Given the description of an element on the screen output the (x, y) to click on. 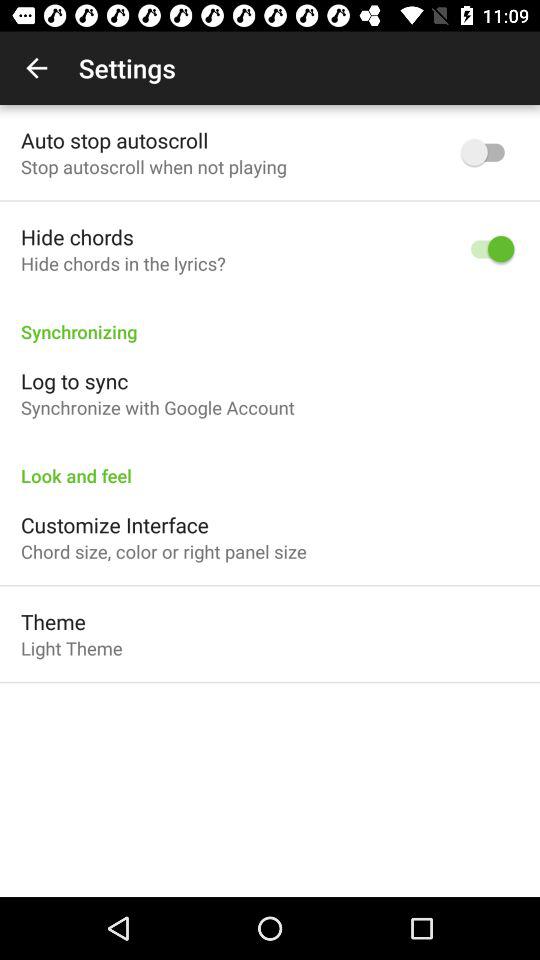
tap log to sync icon (74, 380)
